Given the description of an element on the screen output the (x, y) to click on. 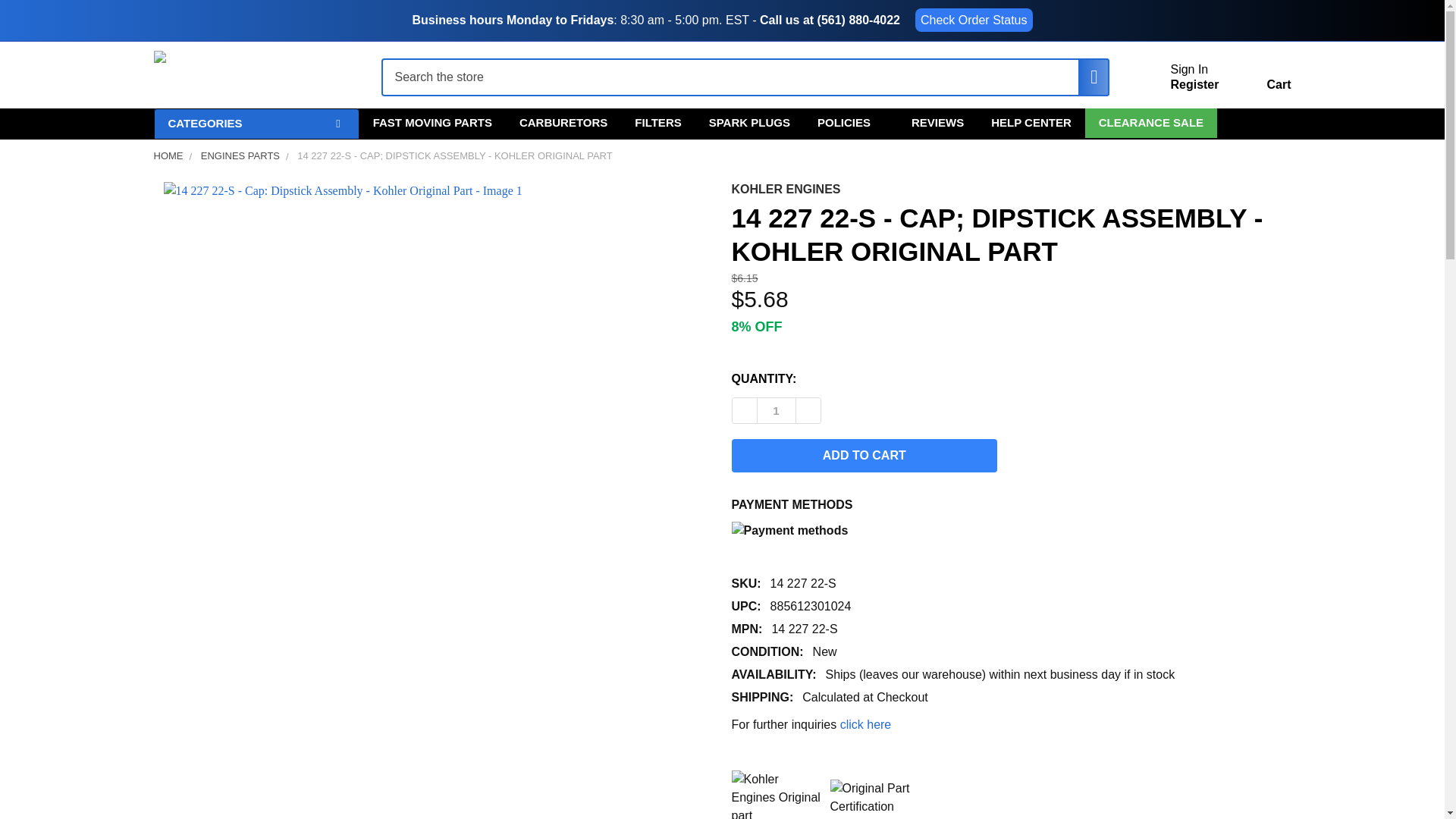
Check Order Status (973, 19)
Add to Cart (863, 455)
Search (1085, 77)
Register (1194, 84)
Payment Methods (867, 533)
Cart (1260, 80)
1 (775, 410)
Kohler Engines Original part (776, 794)
GeoTrust Secured (874, 797)
Search (1085, 77)
